Given the description of an element on the screen output the (x, y) to click on. 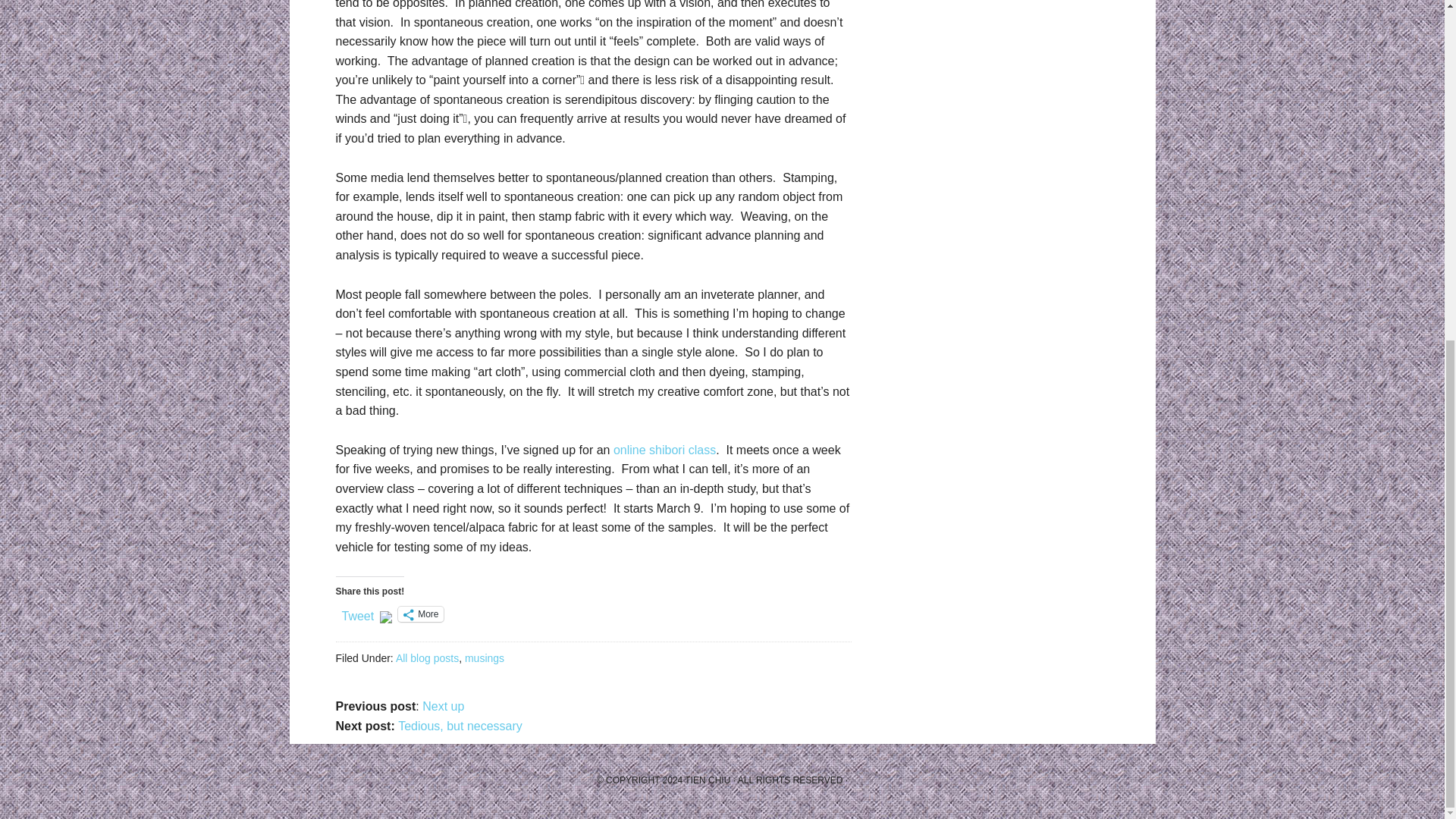
Tedious, but necessary (459, 725)
Next up (443, 706)
More (419, 613)
online shibori class (664, 449)
Tweet (357, 612)
musings (483, 657)
TIEN CHIU (707, 779)
All blog posts (427, 657)
